Given the description of an element on the screen output the (x, y) to click on. 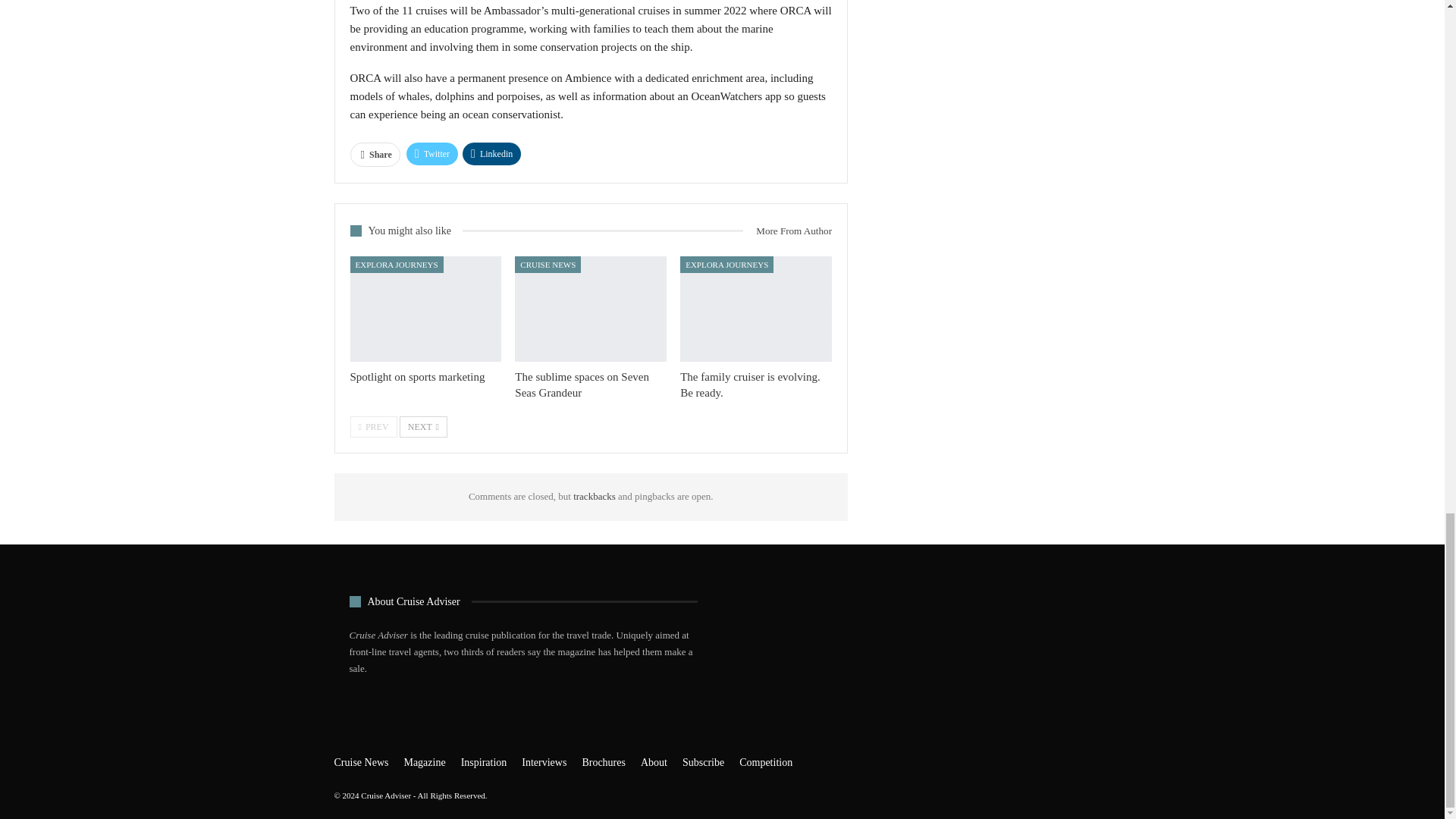
Spotlight on sports marketing (417, 377)
The family cruiser is evolving. Be ready. (750, 384)
Spotlight on sports marketing (417, 377)
EXPLORA JOURNEYS (397, 264)
The family cruiser is evolving. Be ready. (750, 384)
The sublime spaces on Seven Seas Grandeur (590, 309)
Previous (373, 426)
You might also like (406, 229)
Linkedin (492, 153)
Next (422, 426)
CRUISE NEWS (547, 264)
The sublime spaces on Seven Seas Grandeur (582, 384)
EXPLORA JOURNEYS (726, 264)
The family cruiser is evolving. Be ready. (755, 309)
The sublime spaces on Seven Seas Grandeur (582, 384)
